Given the description of an element on the screen output the (x, y) to click on. 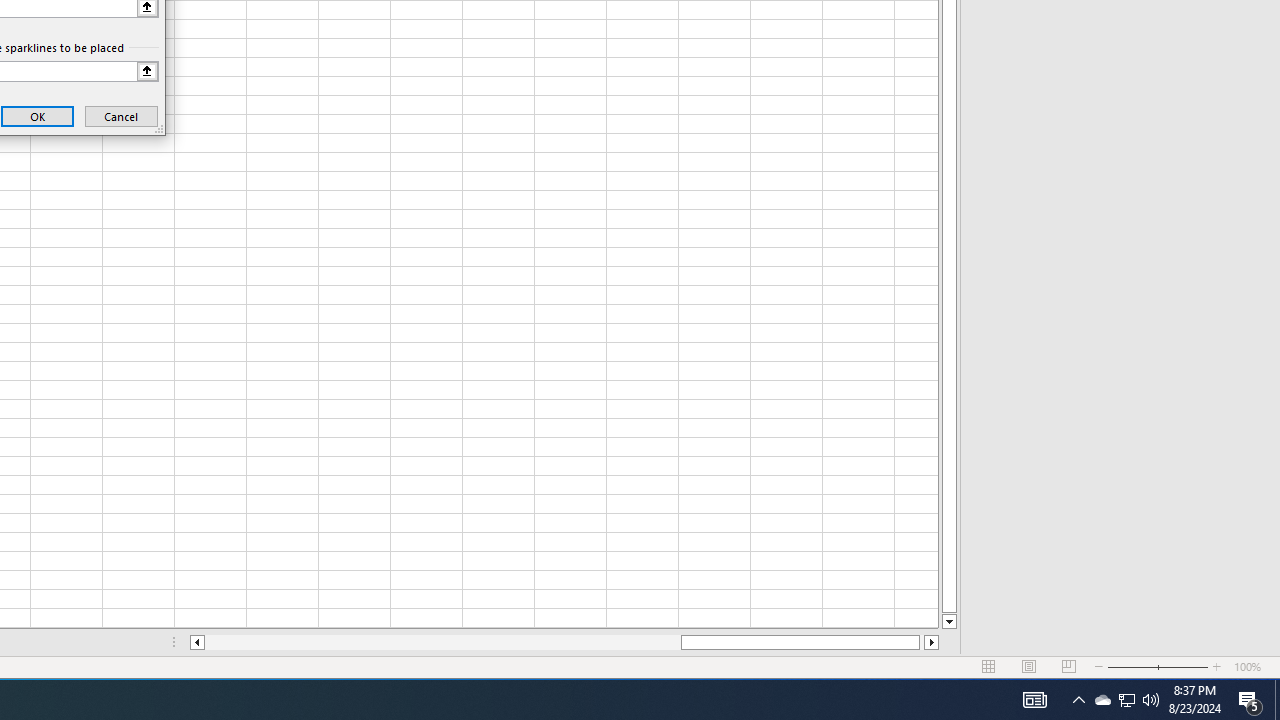
Page left (1126, 699)
User Promoted Notification Area (442, 642)
Notification Chevron (1126, 699)
OK (1102, 699)
Action Center, 5 new notifications (1078, 699)
Cancel (37, 116)
